Given the description of an element on the screen output the (x, y) to click on. 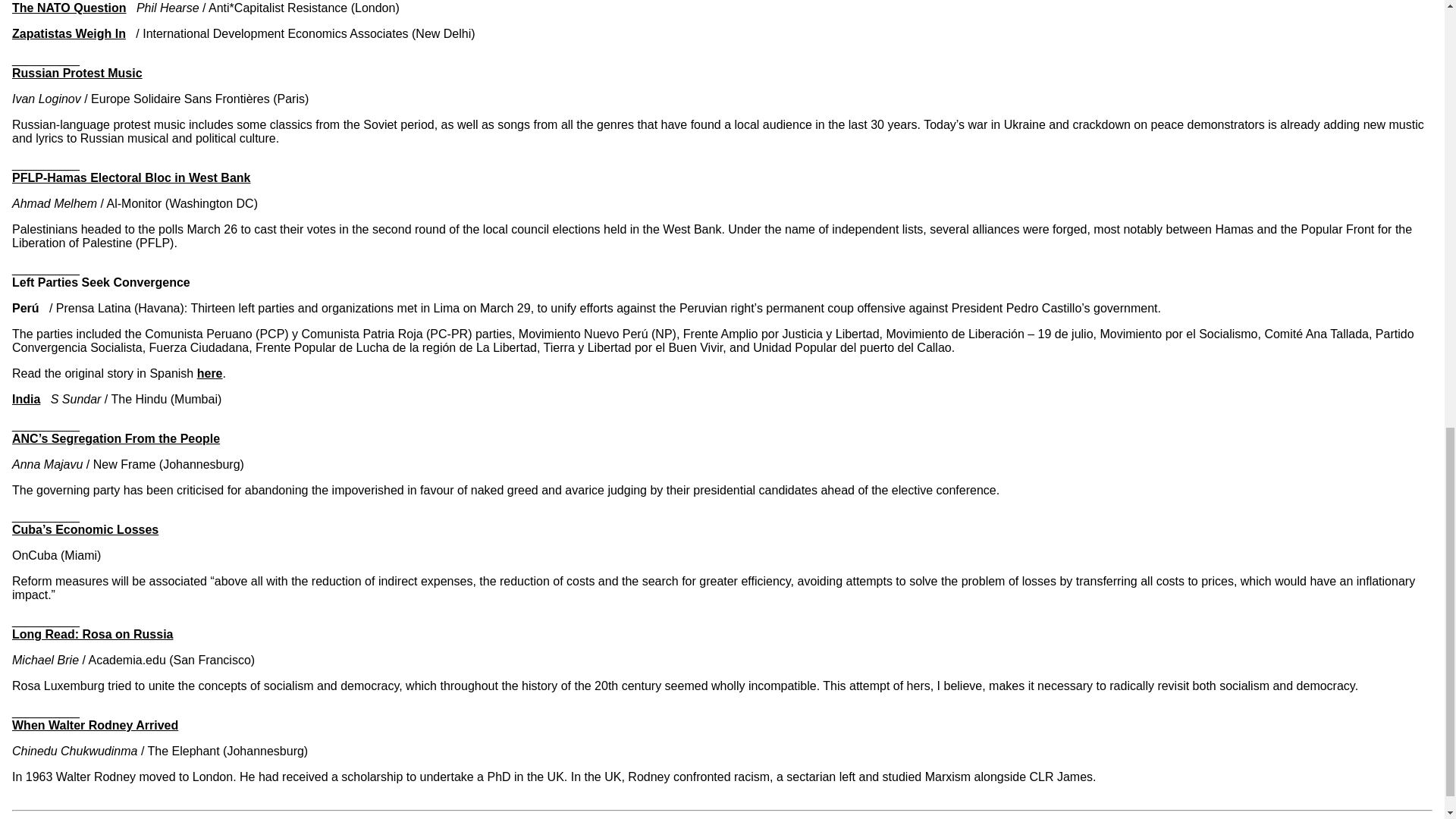
here (209, 373)
The NATO Question (68, 7)
Long Read: Rosa on Russia (92, 634)
PFLP-Hamas Electoral Bloc in West Bank (130, 177)
Zapatistas Weigh In (68, 33)
Russian Protest Music (76, 72)
India (25, 399)
